Given the description of an element on the screen output the (x, y) to click on. 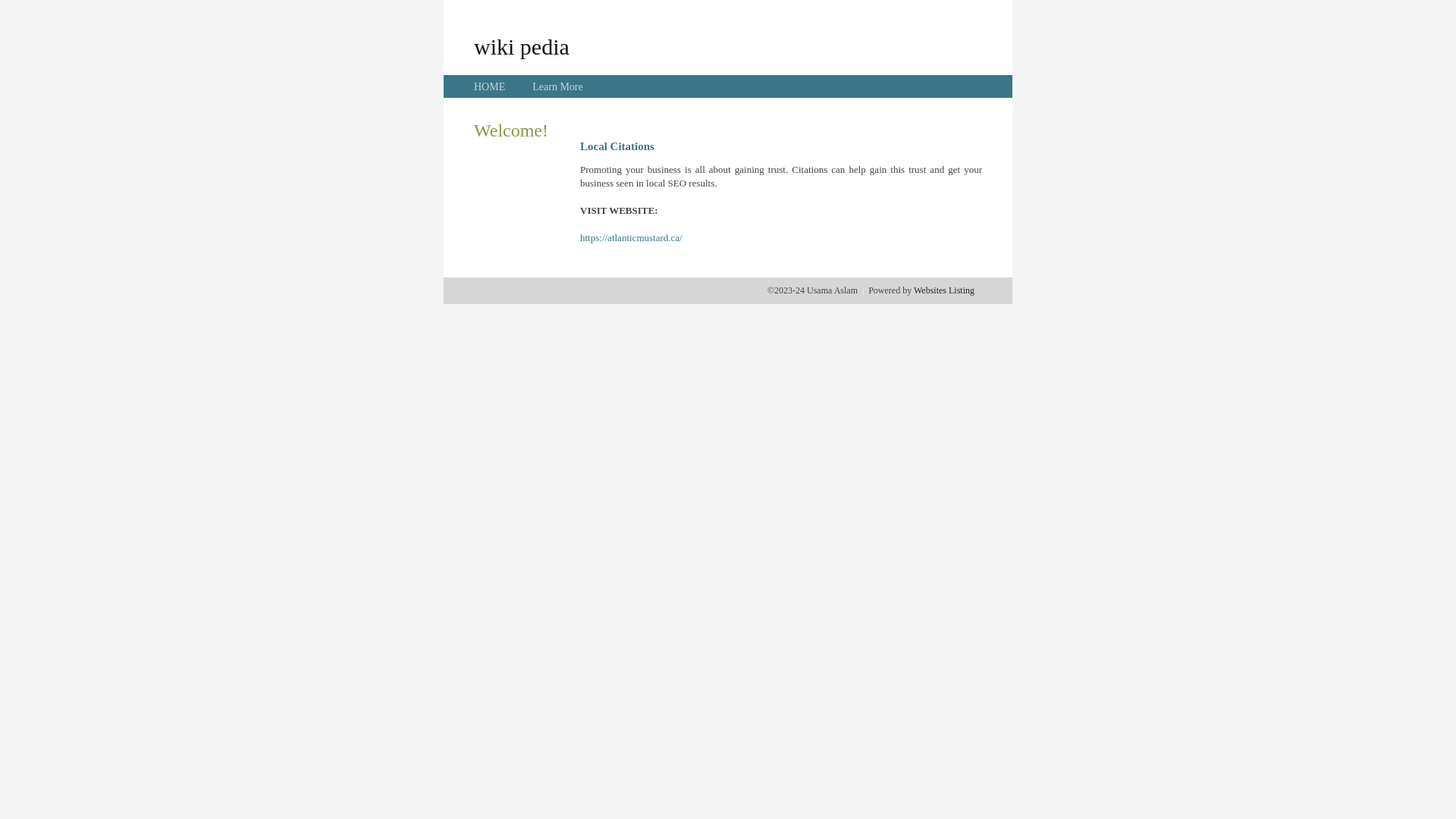
wiki pedia Element type: text (521, 46)
HOME Element type: text (489, 86)
Websites Listing Element type: text (943, 290)
https://atlanticmustard.ca/ Element type: text (631, 237)
Learn More Element type: text (557, 86)
